Given the description of an element on the screen output the (x, y) to click on. 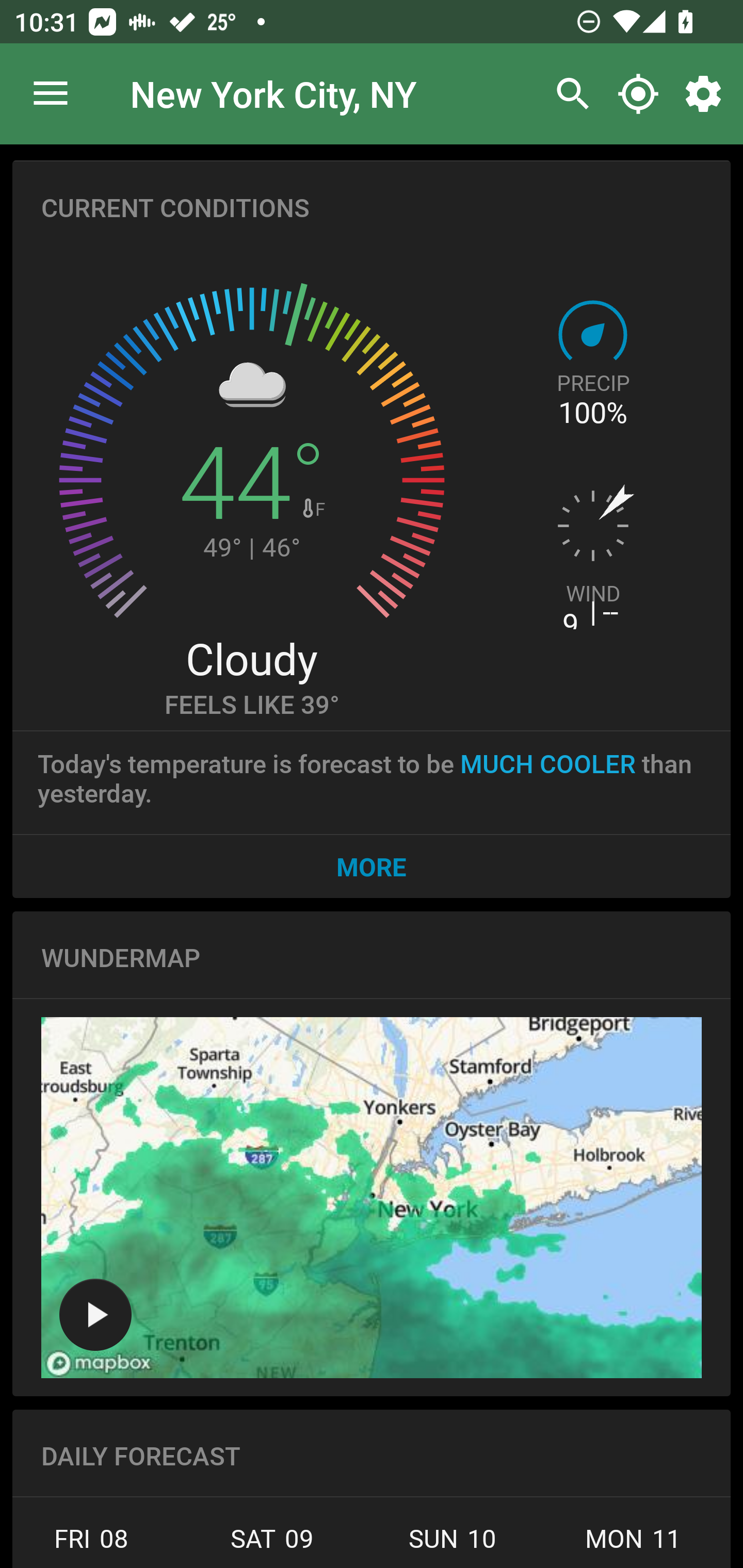
Press to open location manager. (50, 93)
Search for location (567, 94)
Select GPS location (637, 94)
Settings (706, 94)
New York City, NY (273, 92)
100% (592, 412)
Cloudy (251, 657)
MORE (371, 865)
Weather Map (371, 1197)
Weather Map (95, 1314)
FRI 08 (96, 1544)
SAT 09 (271, 1544)
SUN 10 (452, 1544)
MON 11 (633, 1544)
